Given the description of an element on the screen output the (x, y) to click on. 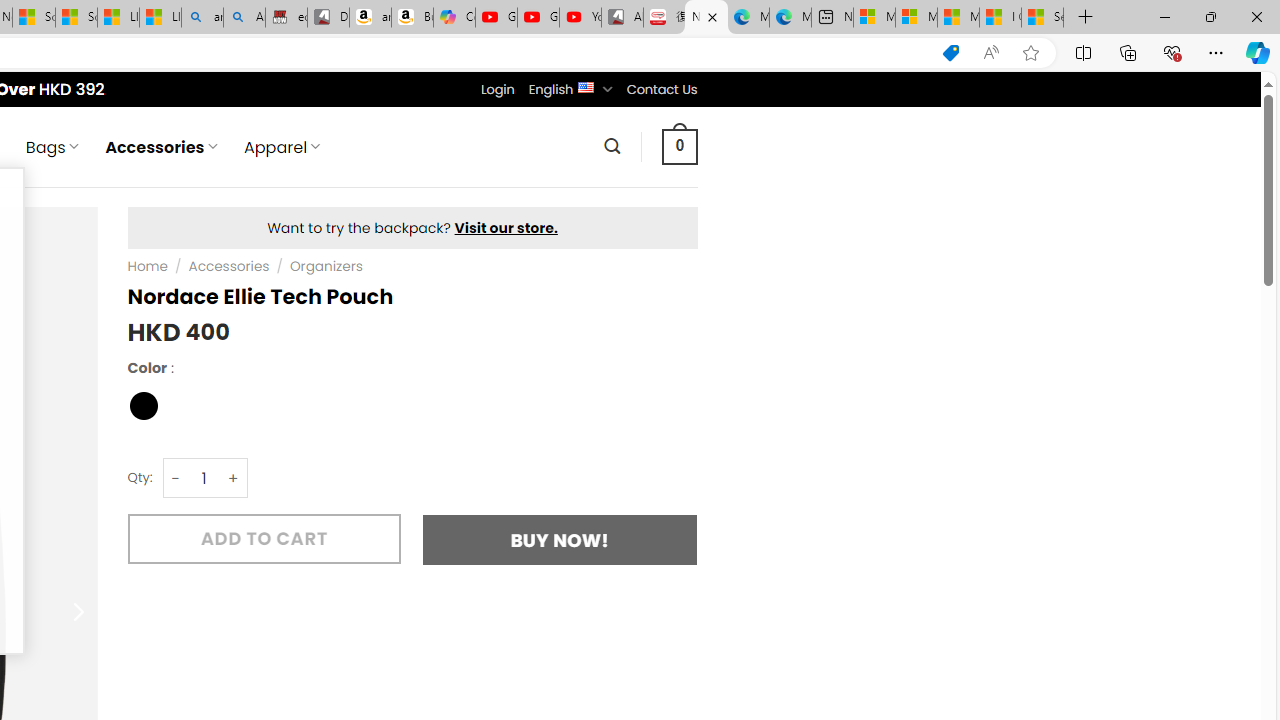
Login (497, 89)
Contact Us (661, 89)
Browser essentials (1171, 52)
Restore (1210, 16)
Add this page to favorites (Ctrl+D) (1030, 53)
I Gained 20 Pounds of Muscle in 30 Days! | Watch (1000, 17)
YouTube Kids - An App Created for Kids to Explore Content (580, 17)
  0   (679, 146)
